Given the description of an element on the screen output the (x, y) to click on. 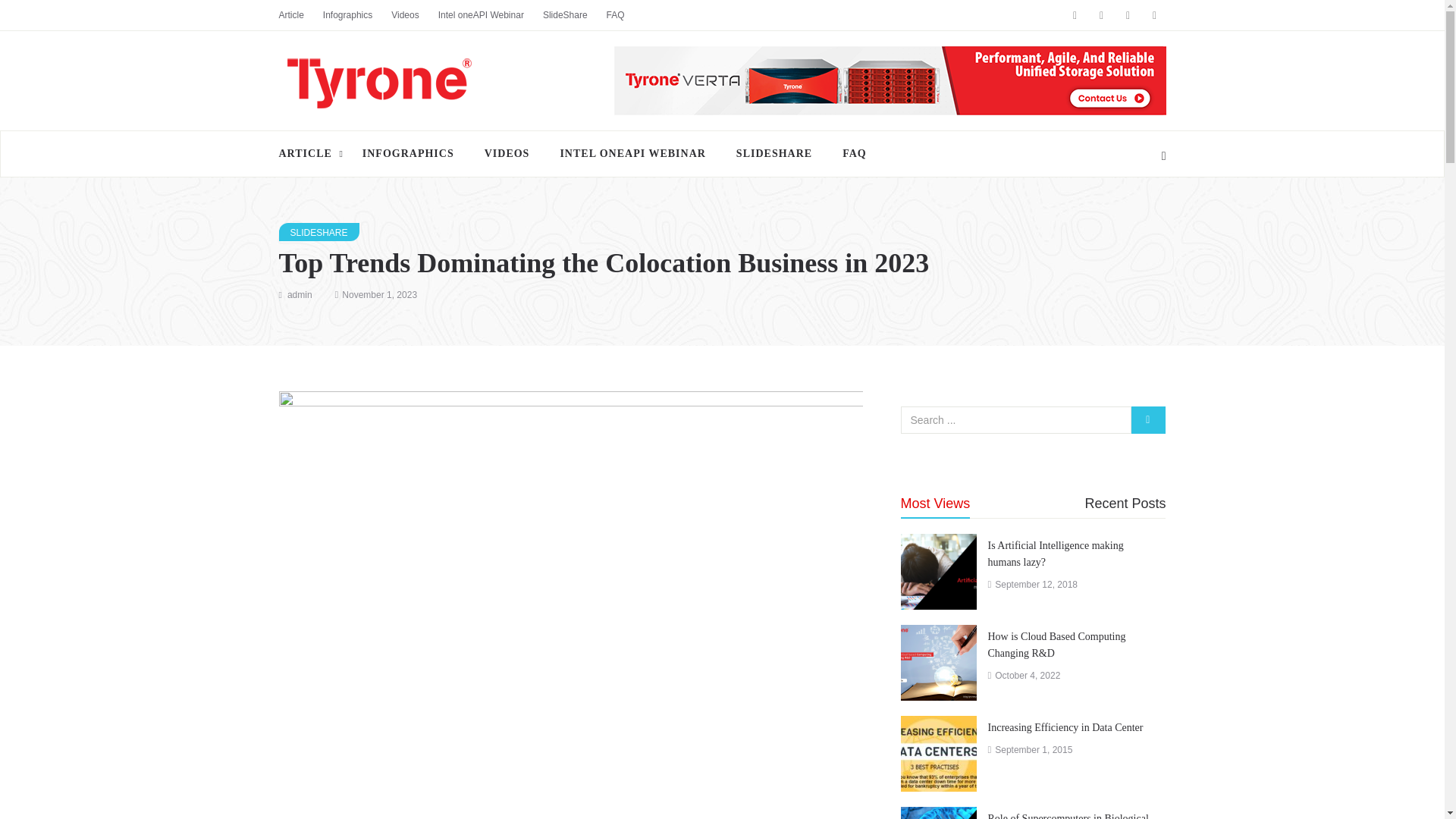
INFOGRAPHICS (407, 153)
Videos (414, 15)
admin (299, 294)
ion-social-facebook (1074, 15)
INTEL ONEAPI WEBINAR (632, 153)
Article (301, 15)
ion-social-googleplus (1101, 15)
Infographics (357, 15)
FAQ (625, 15)
SlideShare (575, 15)
SLIDESHARE (319, 231)
FAQ (854, 153)
VIDEOS (506, 153)
Intel oneAPI Webinar (490, 15)
ion-social-twitter (1127, 15)
